Given the description of an element on the screen output the (x, y) to click on. 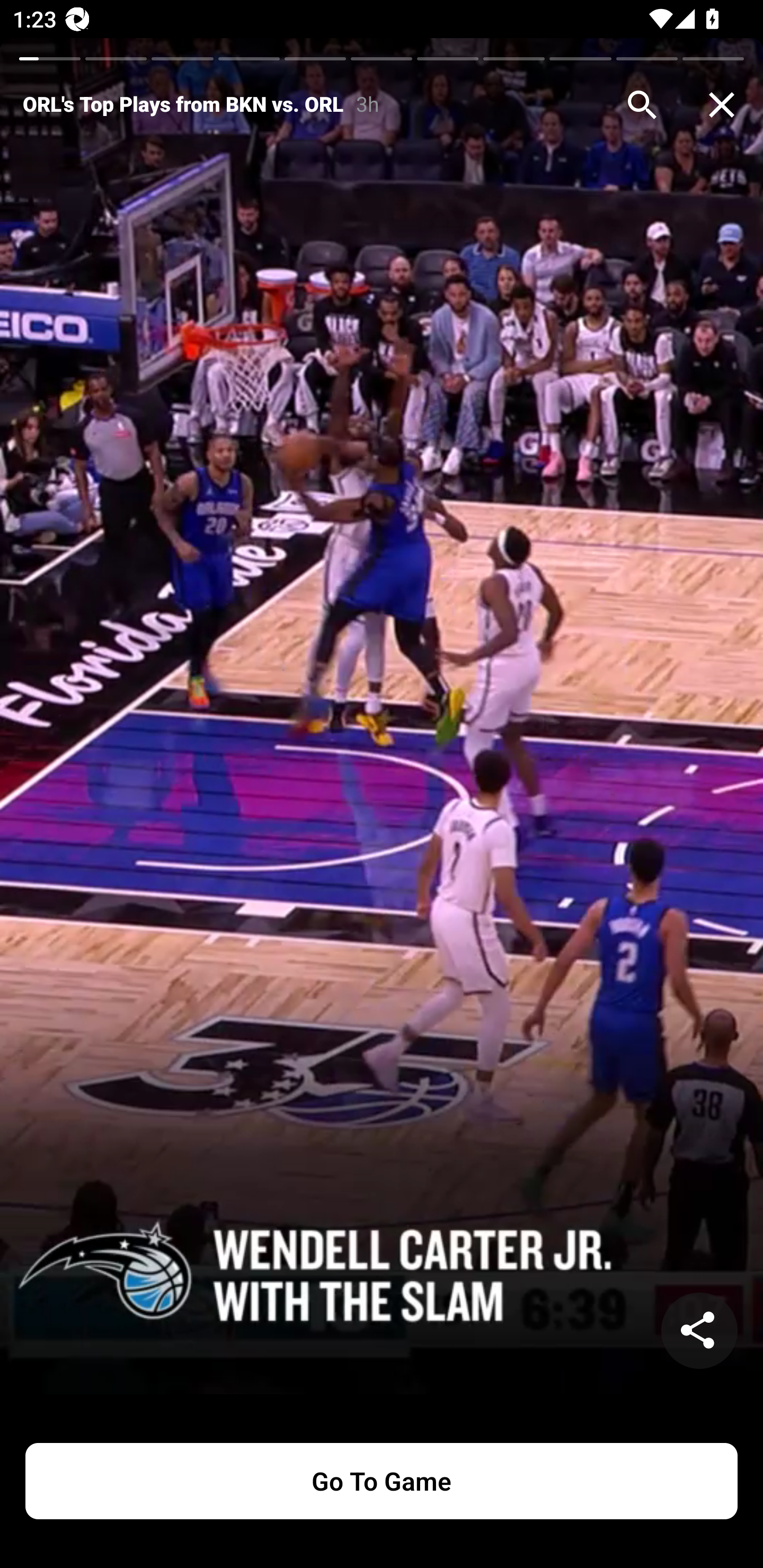
search (642, 104)
close (721, 104)
share (699, 1330)
Go To Game (381, 1480)
